Given the description of an element on the screen output the (x, y) to click on. 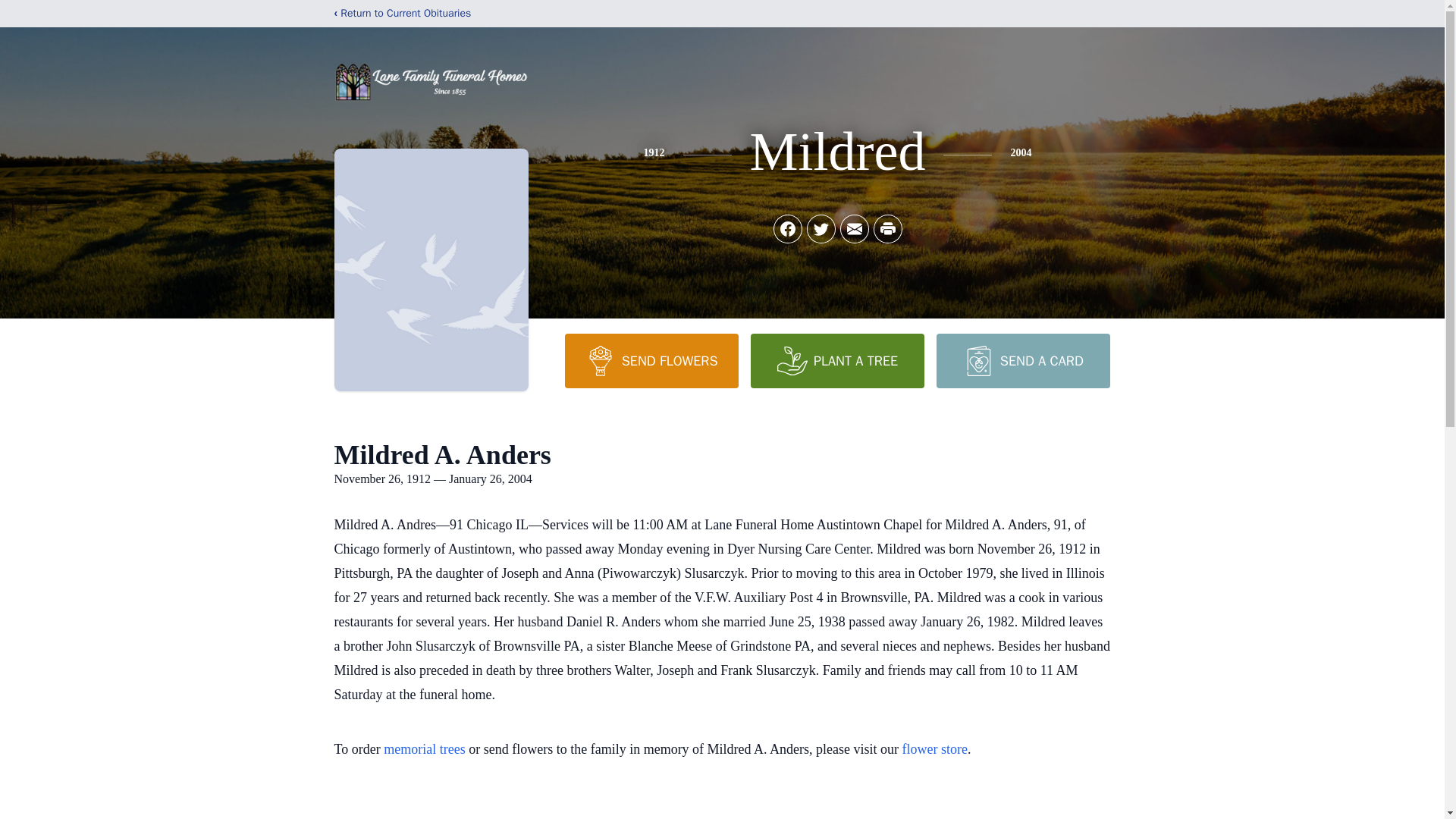
SEND FLOWERS (651, 360)
memorial trees (424, 749)
SEND A CARD (1022, 360)
flower store (935, 749)
PLANT A TREE (837, 360)
